Given the description of an element on the screen output the (x, y) to click on. 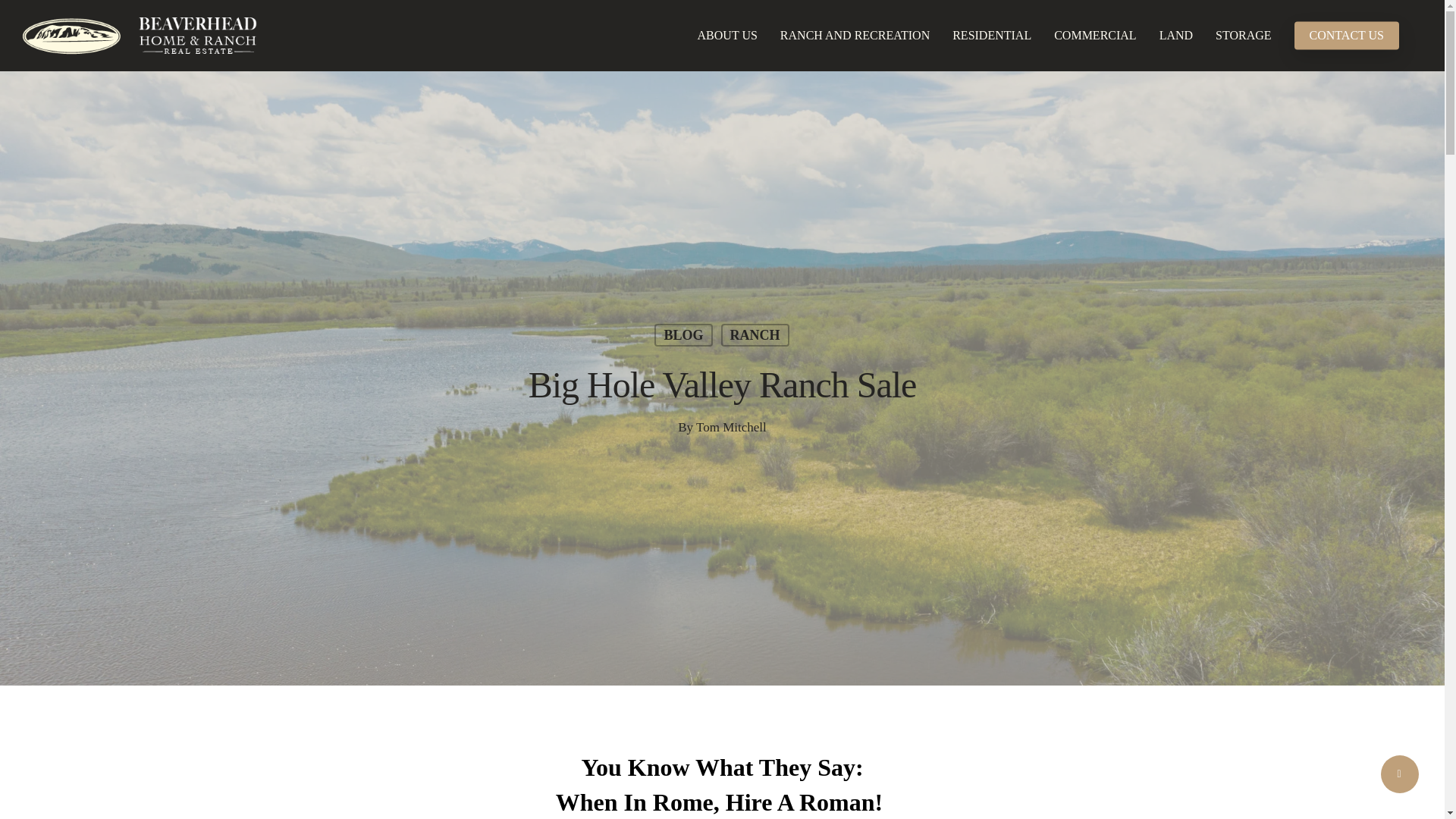
LAND (1176, 35)
COMMERCIAL (1094, 35)
STORAGE (1243, 35)
CONTACT US (1346, 35)
RANCH AND RECREATION (854, 35)
ABOUT US (726, 35)
RANCH (754, 345)
RESIDENTIAL (991, 35)
Tom Mitchell (731, 436)
Posts by Tom Mitchell (731, 427)
BLOG (682, 345)
